Given the description of an element on the screen output the (x, y) to click on. 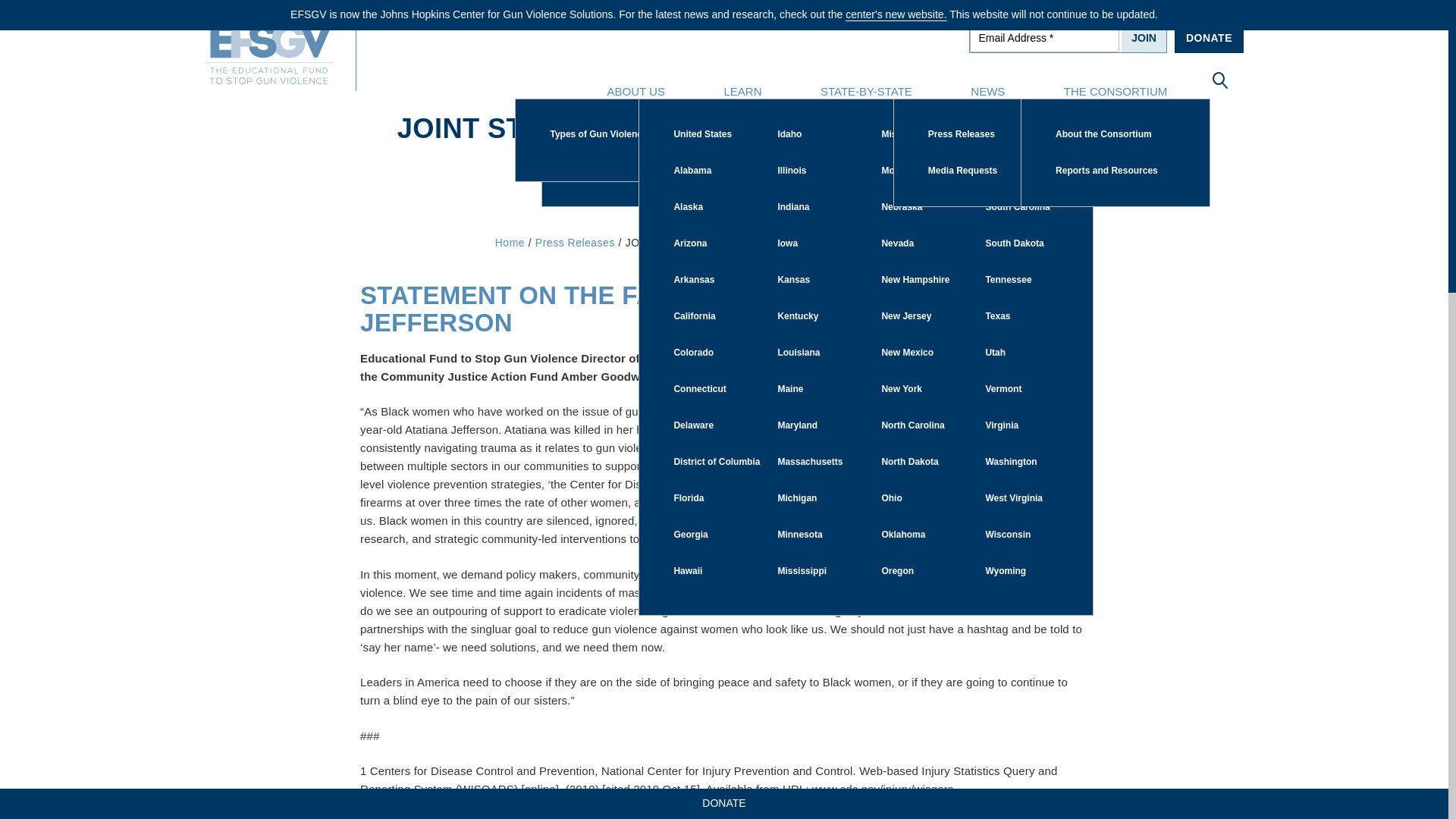
About EFSGV (637, 134)
United States (735, 134)
JOIN (1143, 37)
Types of Gun Violence (611, 134)
STATE-BY-STATE (866, 91)
About Us (635, 91)
Careers (637, 170)
Policies (748, 134)
LEARN (743, 91)
DONATE (1208, 37)
